Given the description of an element on the screen output the (x, y) to click on. 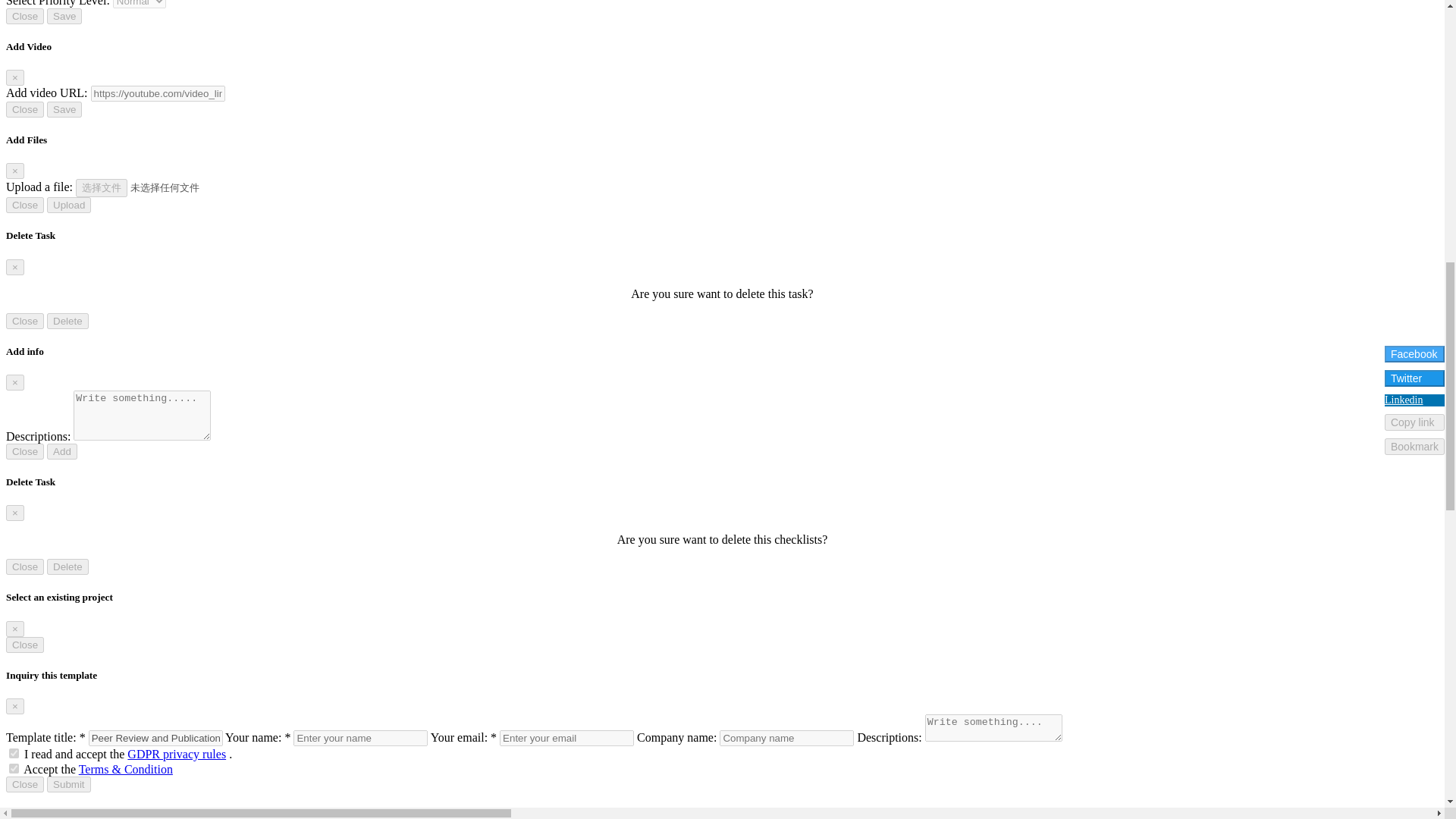
Peer Review and Publication of Research Results (155, 738)
Upload (68, 204)
Save (63, 109)
Save (63, 16)
Delete (67, 320)
Delete (67, 566)
on (13, 768)
Add (61, 451)
